Given the description of an element on the screen output the (x, y) to click on. 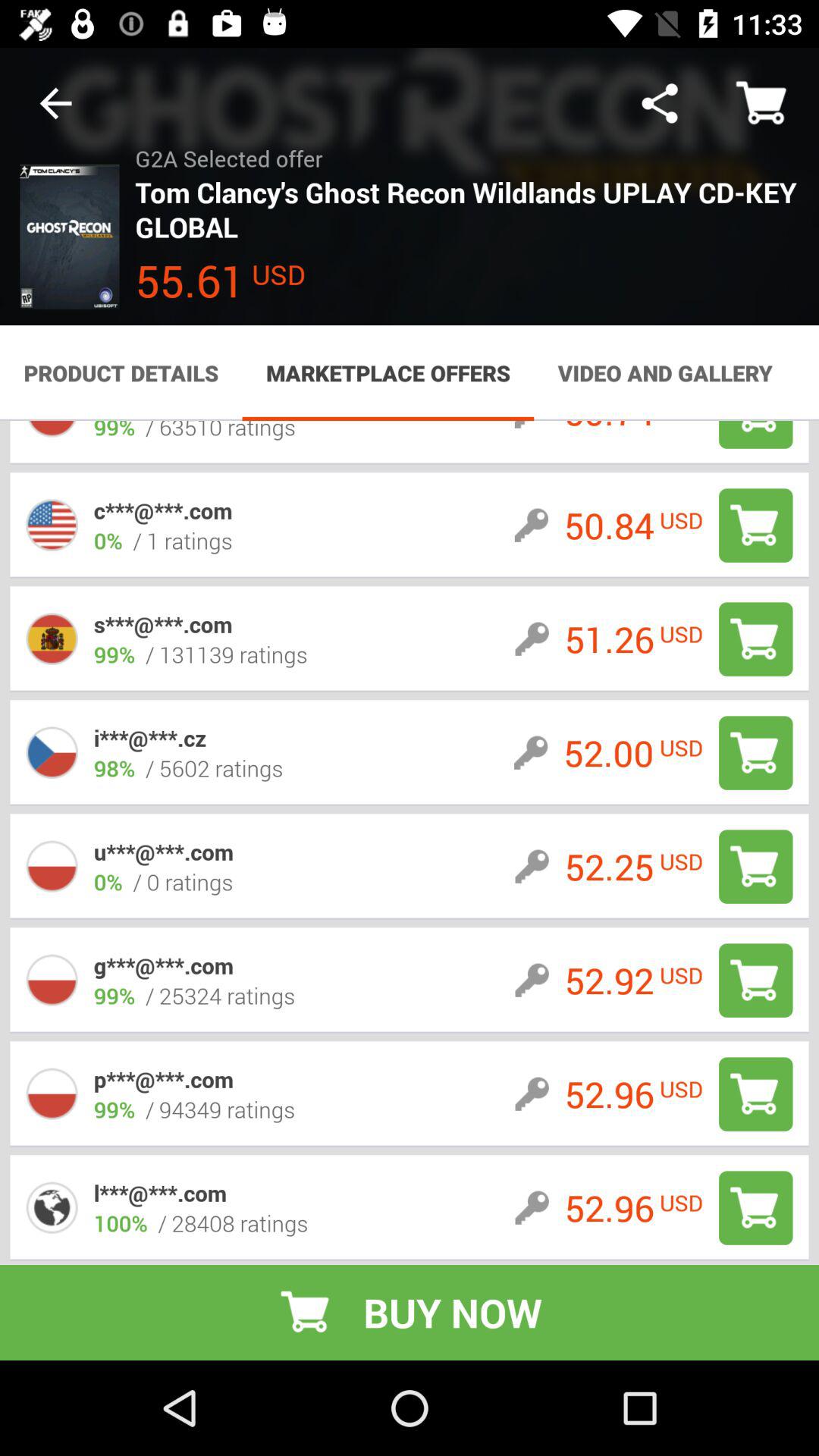
add to shopping cart (755, 525)
